Given the description of an element on the screen output the (x, y) to click on. 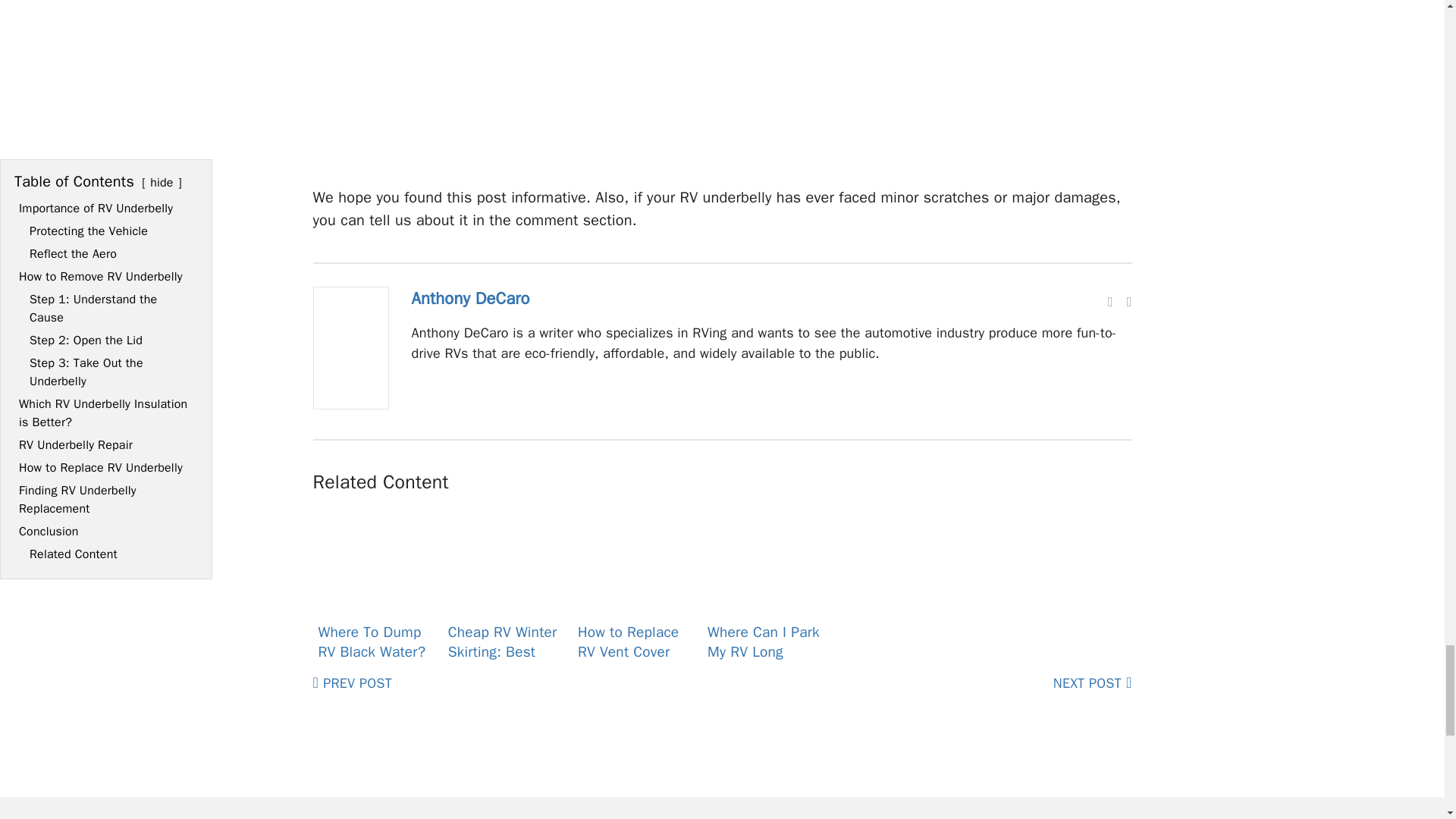
rv underbelly removal (721, 81)
Anthony DeCaro (469, 298)
Anthony DeCaro (350, 404)
